Given the description of an element on the screen output the (x, y) to click on. 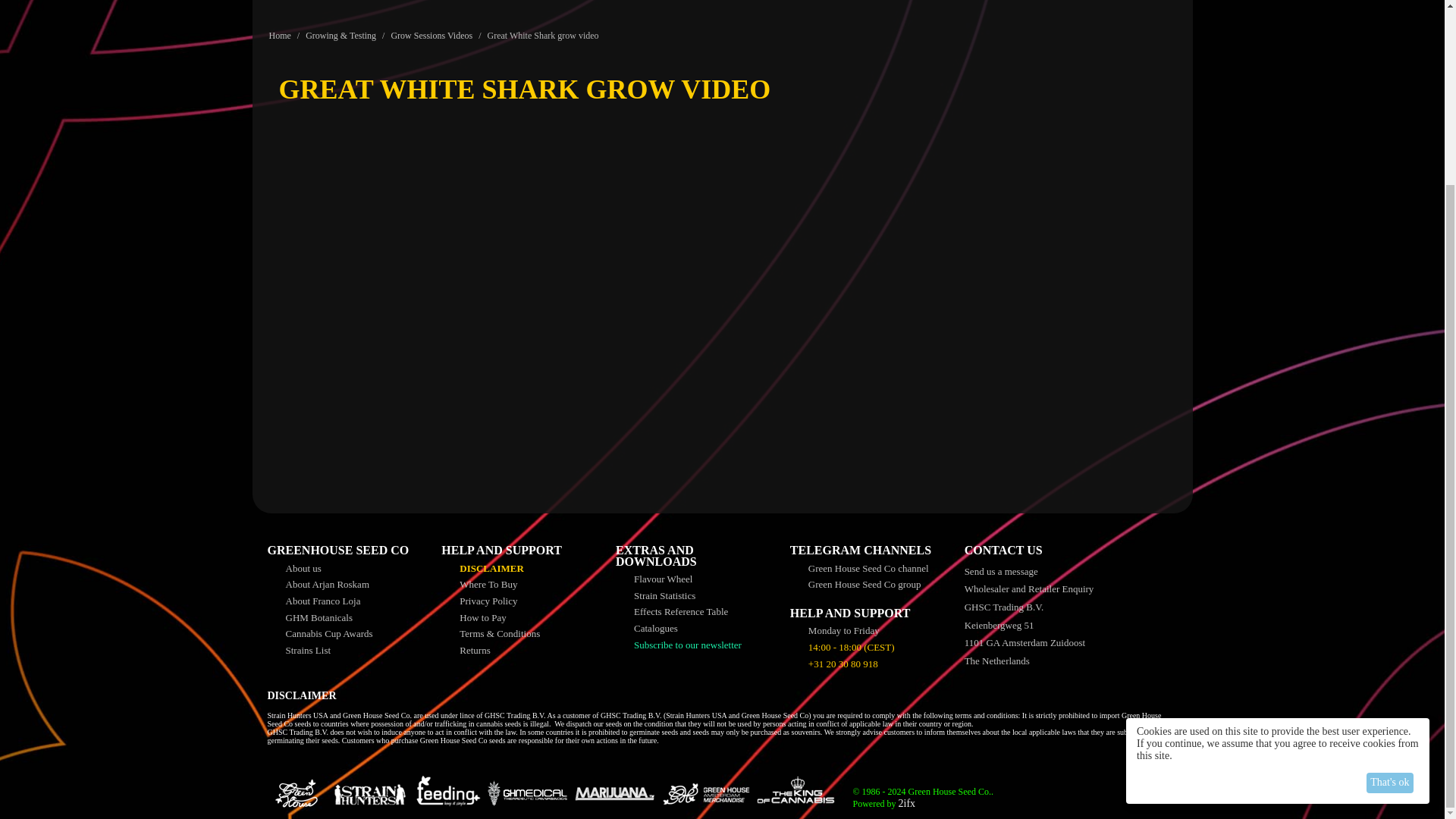
Strain Hunters (365, 792)
GH Medical (529, 792)
Green House Coffeeshops Amsterdam (294, 792)
Green House Feeding (445, 792)
King of Cannabis (803, 792)
MARIJUANA TV (614, 792)
Green House Merchandise (705, 792)
